Given the description of an element on the screen output the (x, y) to click on. 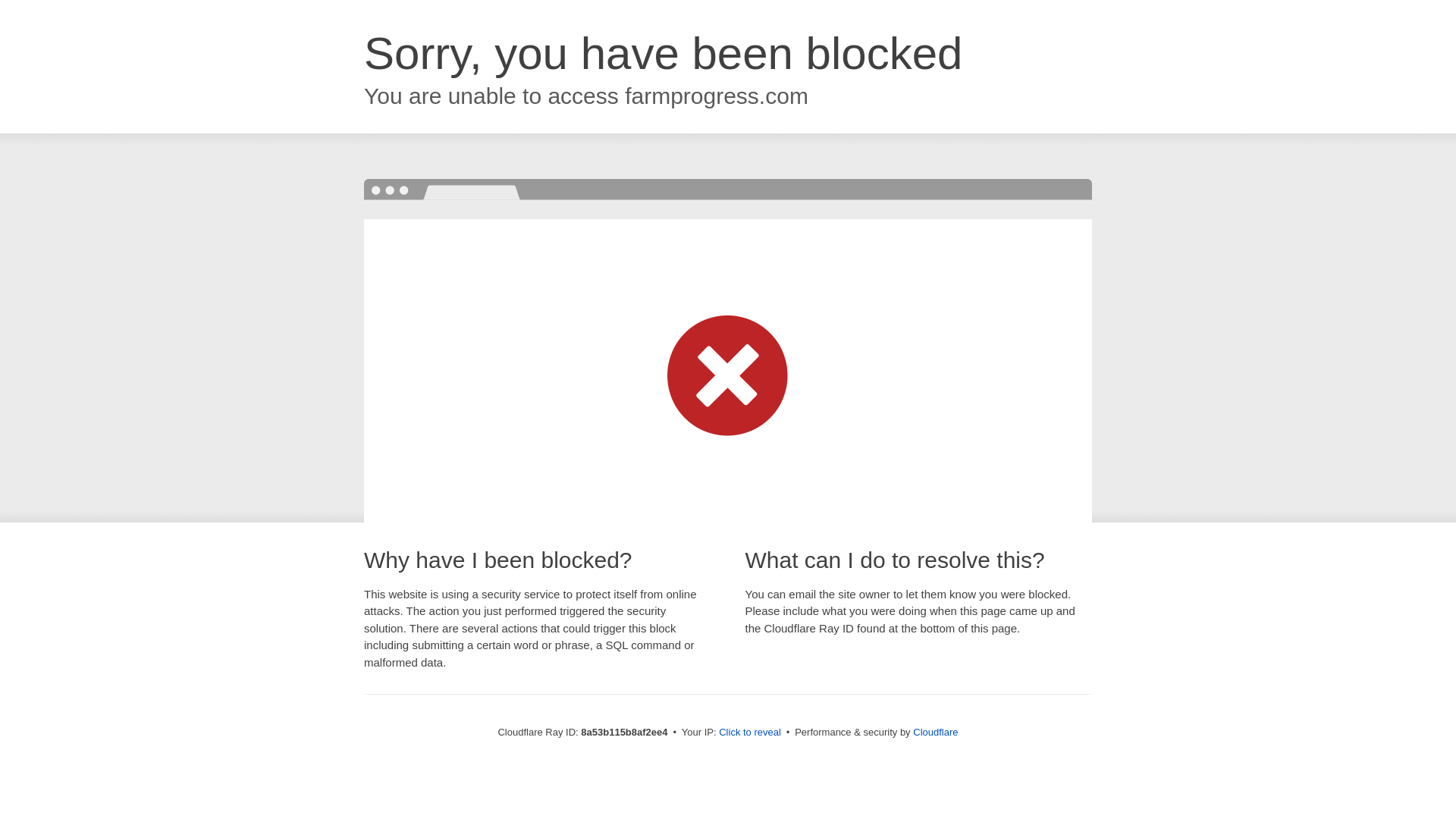
Click to reveal (749, 732)
Cloudflare (935, 731)
